Given the description of an element on the screen output the (x, y) to click on. 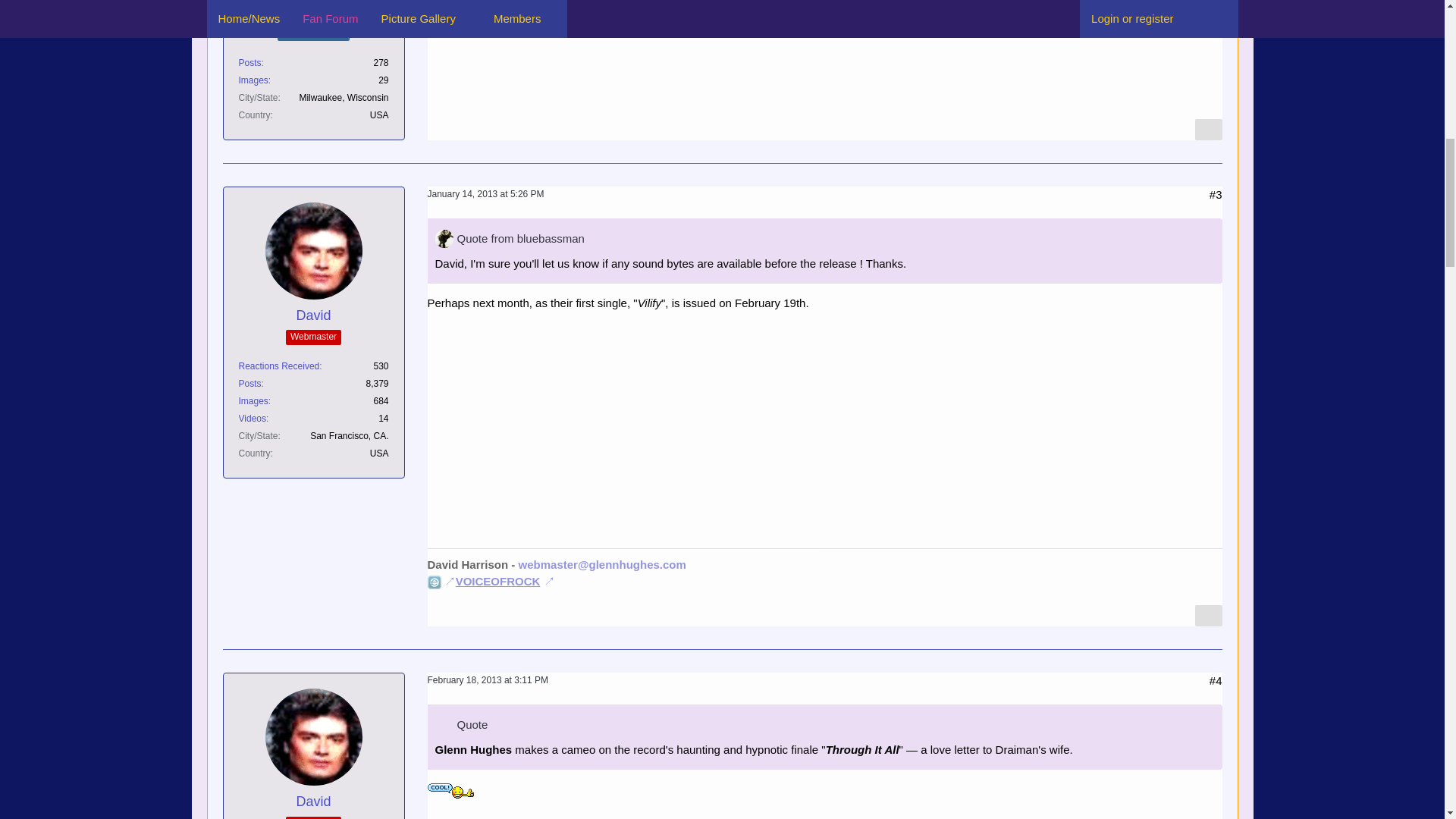
Posts by bluebassman (249, 62)
Images by bluebassman (252, 80)
Report Content (1209, 129)
